Given the description of an element on the screen output the (x, y) to click on. 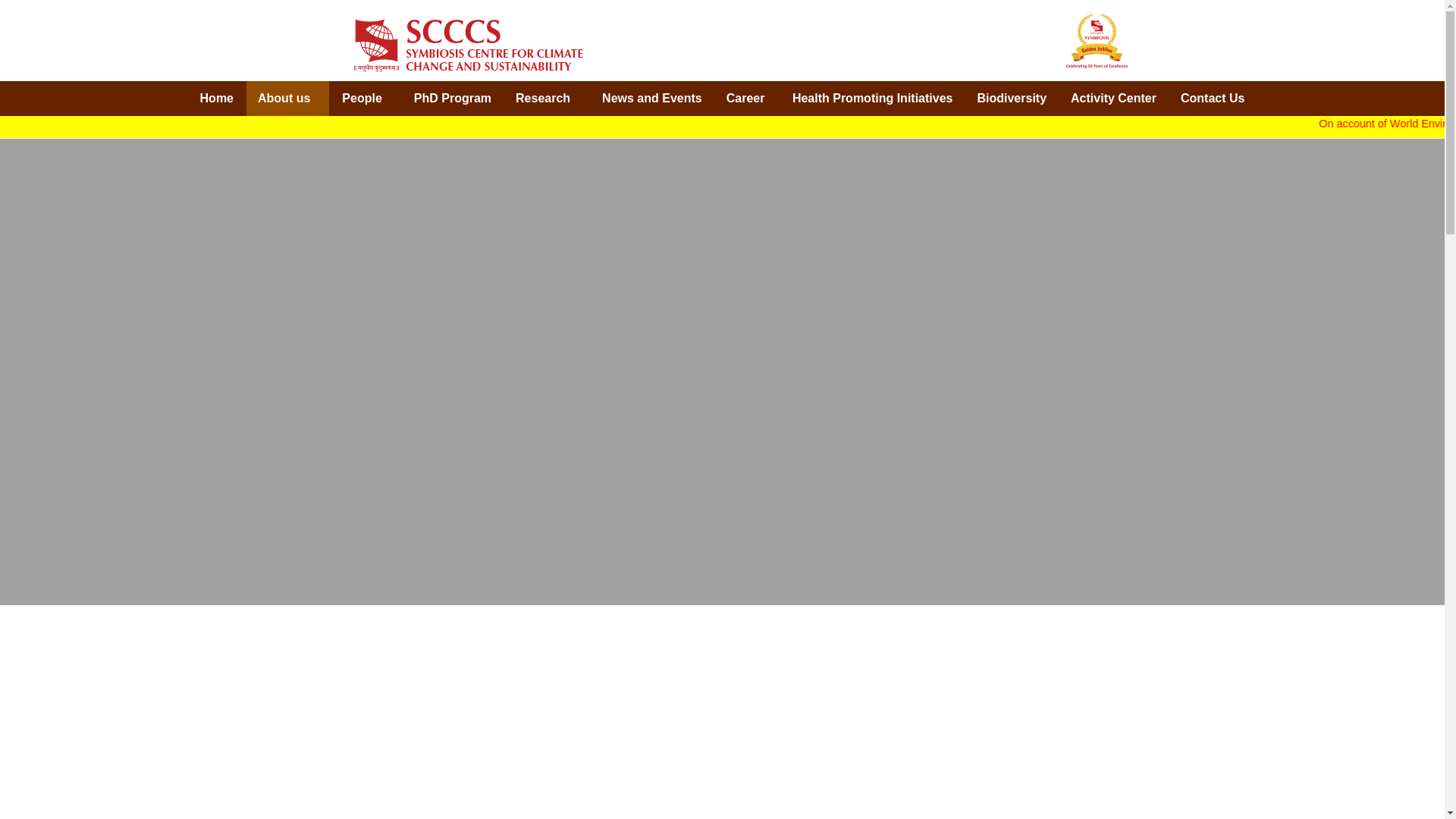
PhD Program (452, 98)
Contact Us (1212, 98)
Biodiversity (1011, 98)
Activity Center (1113, 98)
News and Events (652, 98)
About us (287, 98)
Research (546, 98)
Career  (746, 98)
Health Promoting Initiatives (871, 98)
Home (216, 98)
People (365, 98)
